Given the description of an element on the screen output the (x, y) to click on. 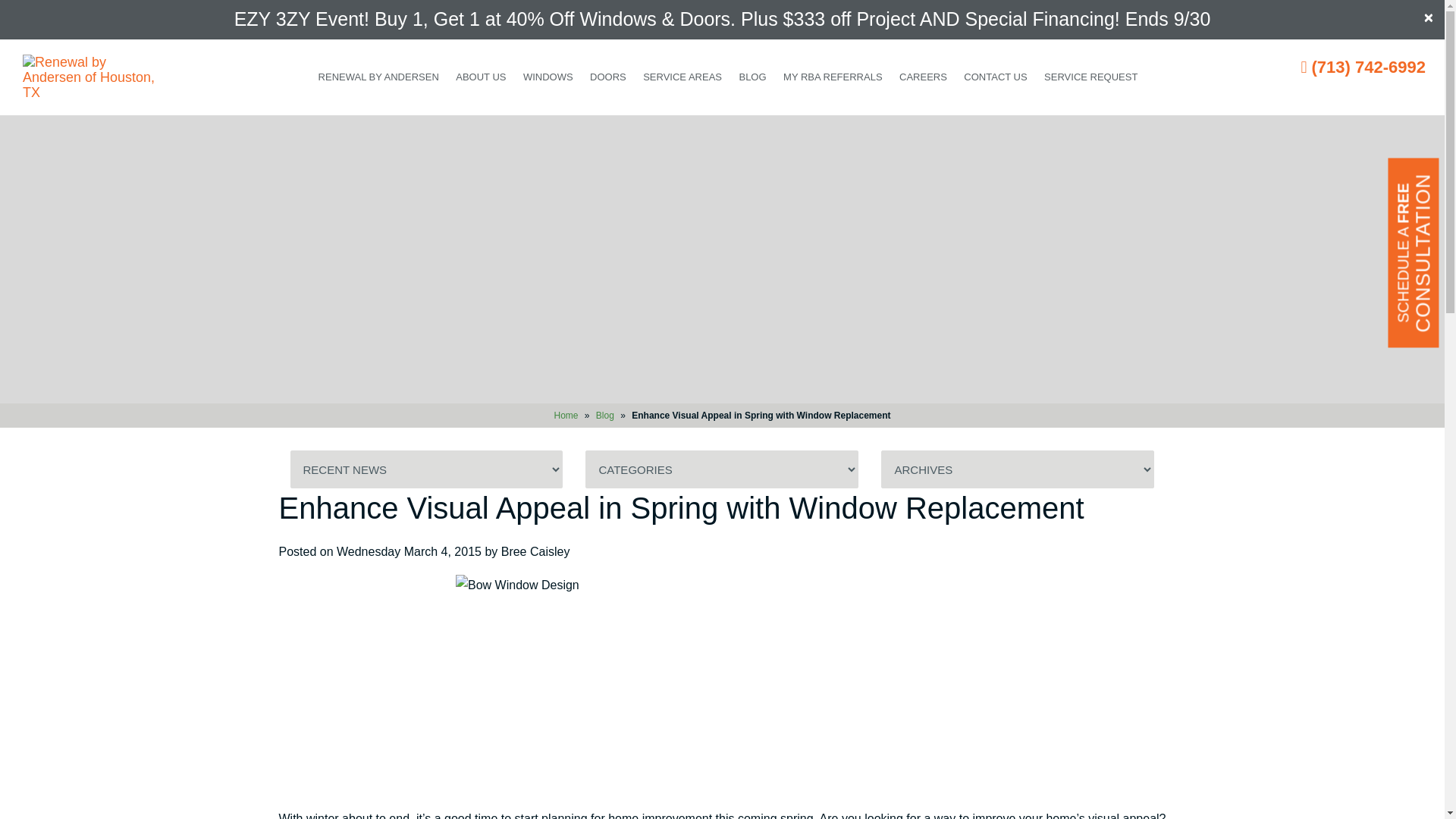
RENEWAL BY ANDERSEN (378, 77)
Renewal by Andersen of Houston (89, 76)
SERVICE AREAS (682, 77)
